Given the description of an element on the screen output the (x, y) to click on. 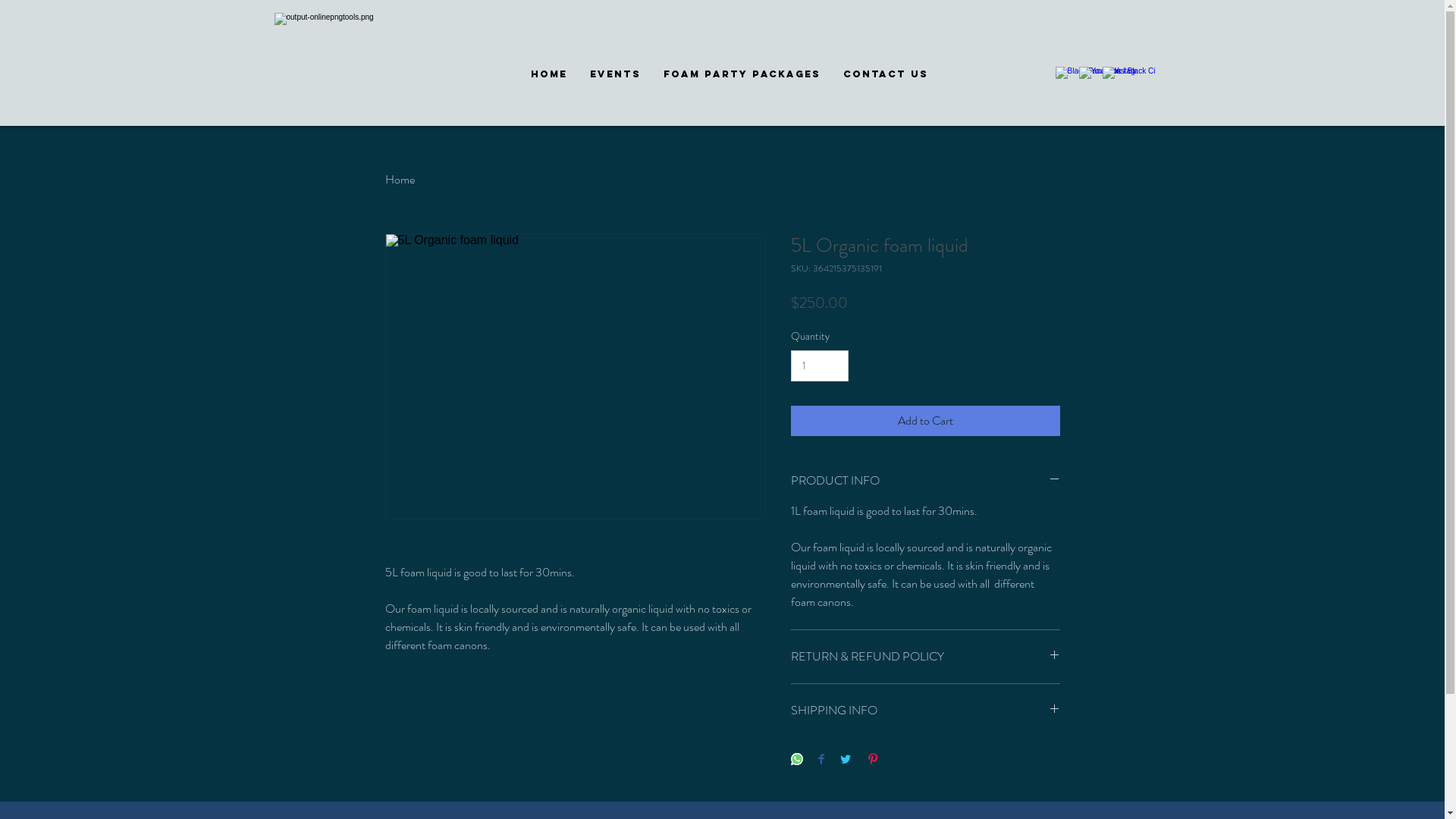
Add to Cart Element type: text (924, 420)
SHIPPING INFO Element type: text (924, 710)
Home Element type: text (548, 74)
CONTACT US Element type: text (885, 74)
RETURN & REFUND POLICY Element type: text (924, 656)
Foam Party Packages Element type: text (741, 74)
Events Element type: text (615, 74)
PRODUCT INFO Element type: text (924, 480)
Home Element type: text (399, 179)
